Given the description of an element on the screen output the (x, y) to click on. 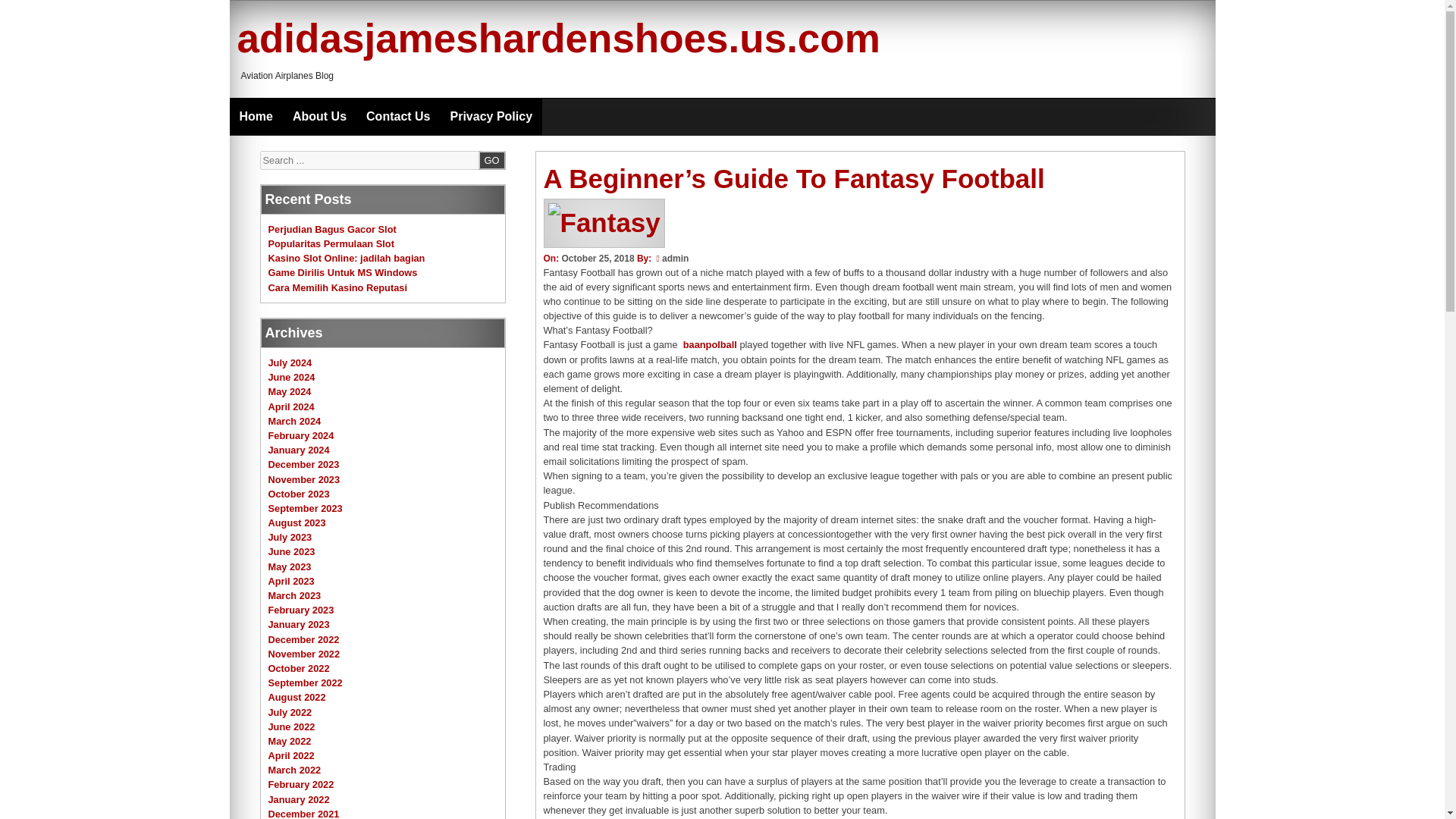
admin (675, 258)
Popularitas Permulaan Slot (330, 243)
June 2024 (291, 377)
October 25, 2018 (596, 258)
About Us (319, 116)
GO (492, 158)
October 2023 (298, 493)
March 2024 (294, 420)
Home (255, 116)
March 2023 (294, 595)
Game Dirilis Untuk MS Windows (342, 272)
Perjudian Bagus Gacor Slot (331, 229)
September 2023 (304, 508)
May 2023 (289, 566)
May 2024 (289, 391)
